Given the description of an element on the screen output the (x, y) to click on. 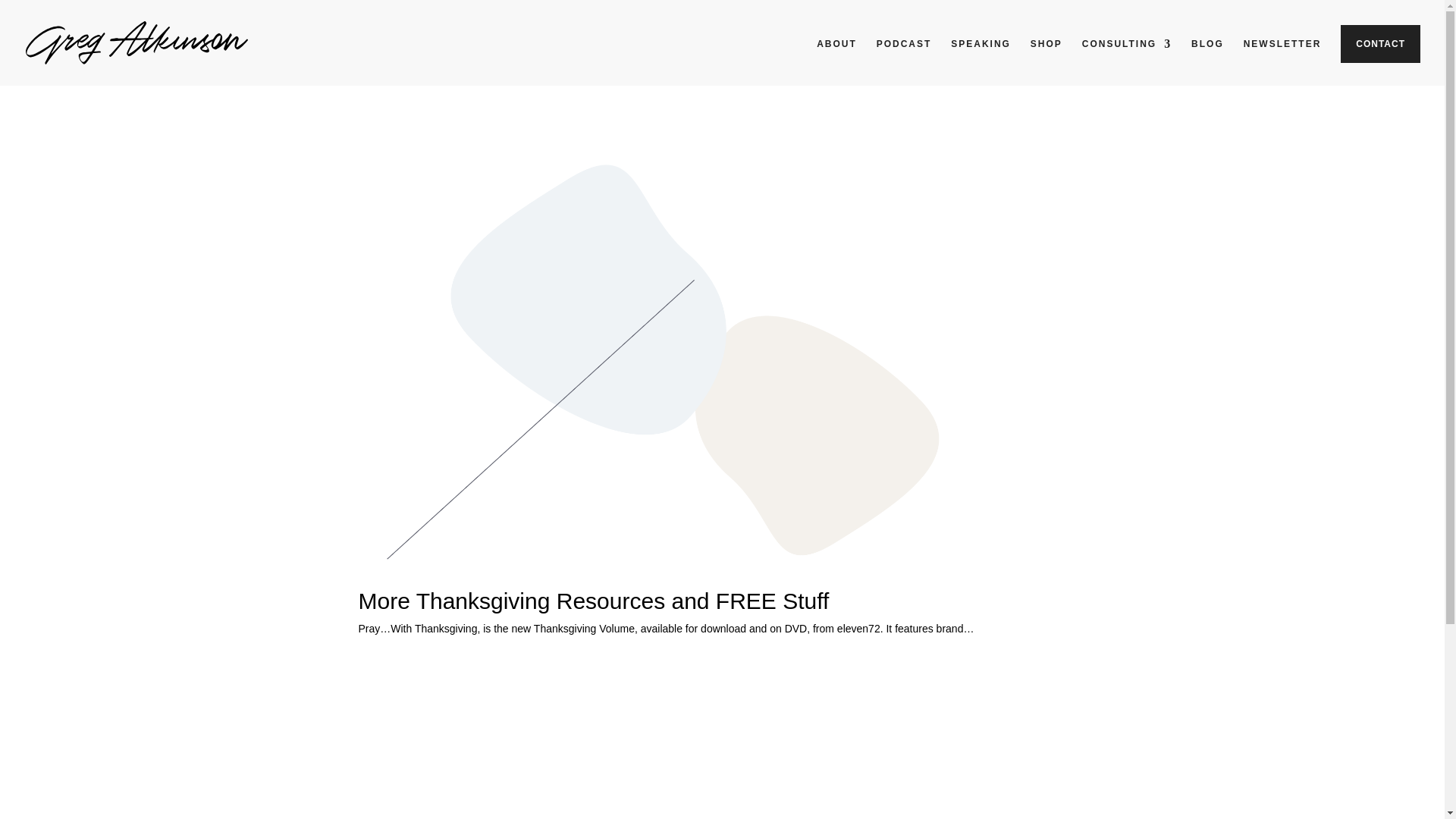
SHOP (1046, 56)
NEWSLETTER (1282, 56)
BLOG (1207, 56)
ABOUT (836, 56)
CONSULTING (1126, 56)
CONTACT (1380, 44)
SPEAKING (980, 56)
PODCAST (903, 56)
